Given the description of an element on the screen output the (x, y) to click on. 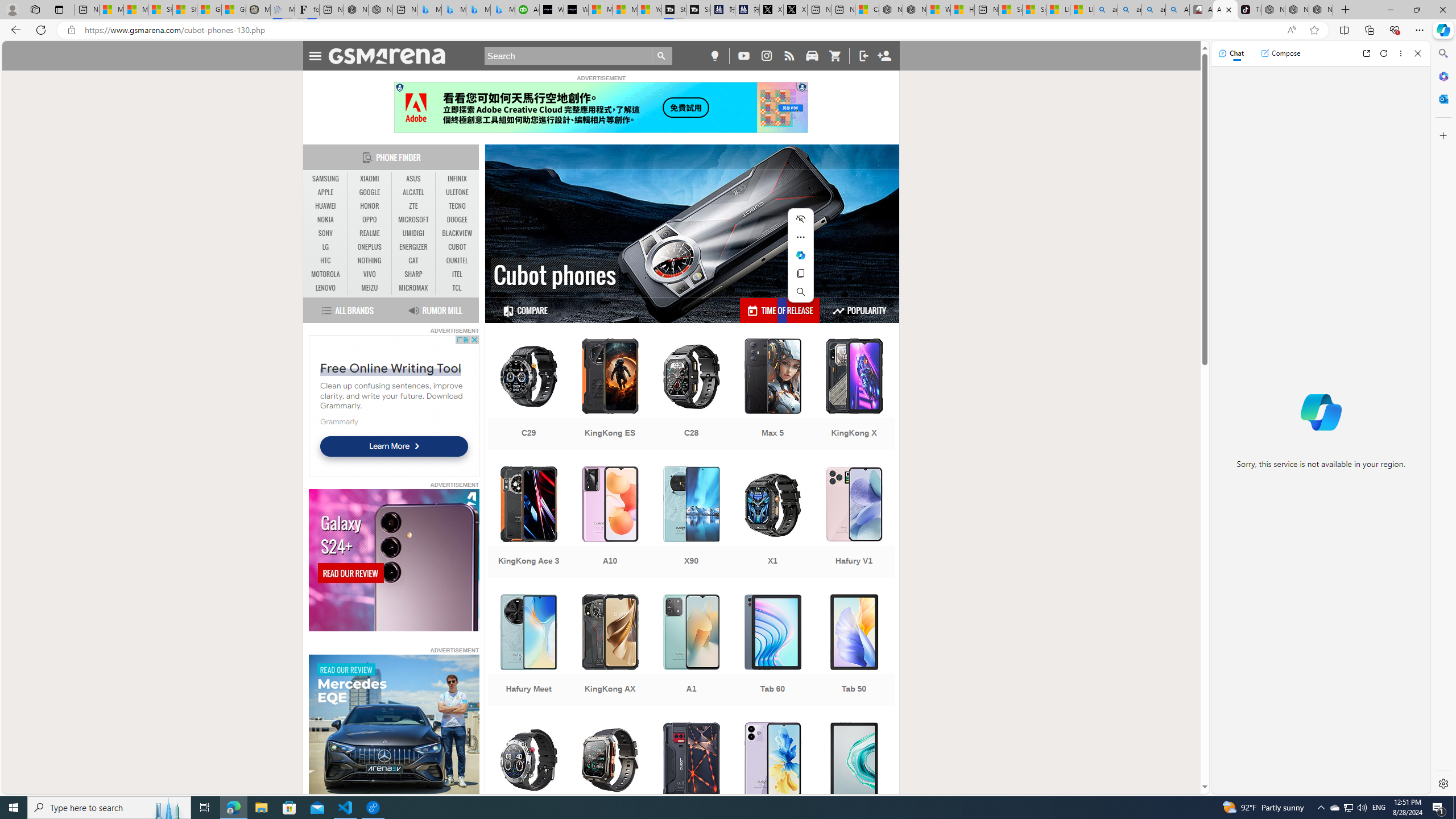
OUKITEL (457, 260)
To get missing image descriptions, open the context menu. (393, 726)
Go (662, 55)
HTC (325, 260)
Hide menu (800, 218)
APPLE (325, 192)
Nordace Siena Pro 15 Backpack (1296, 9)
Huge shark washes ashore at New York City beach | Watch (962, 9)
Outlook (1442, 98)
